Given the description of an element on the screen output the (x, y) to click on. 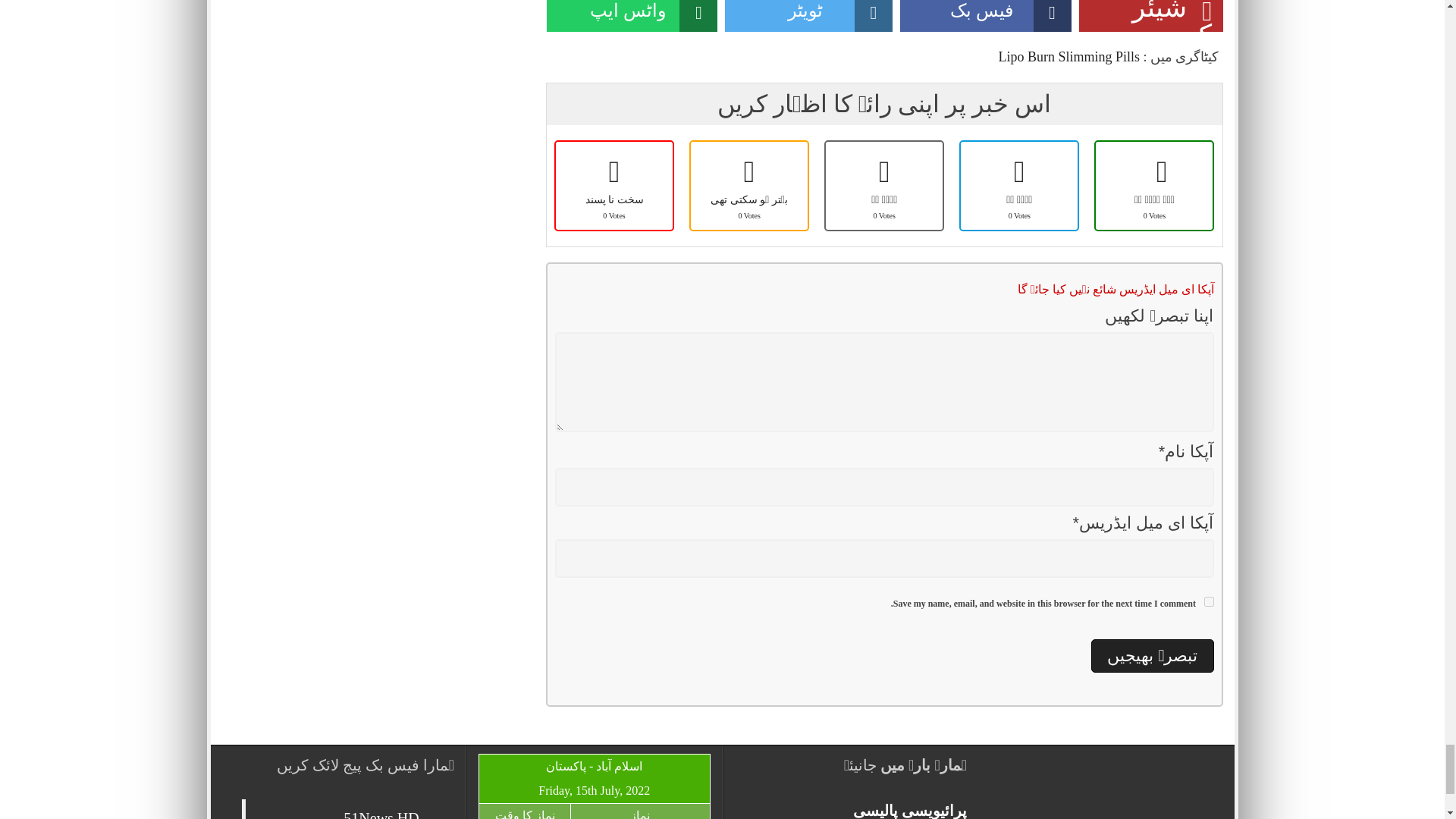
yes (1209, 601)
